Given the description of an element on the screen output the (x, y) to click on. 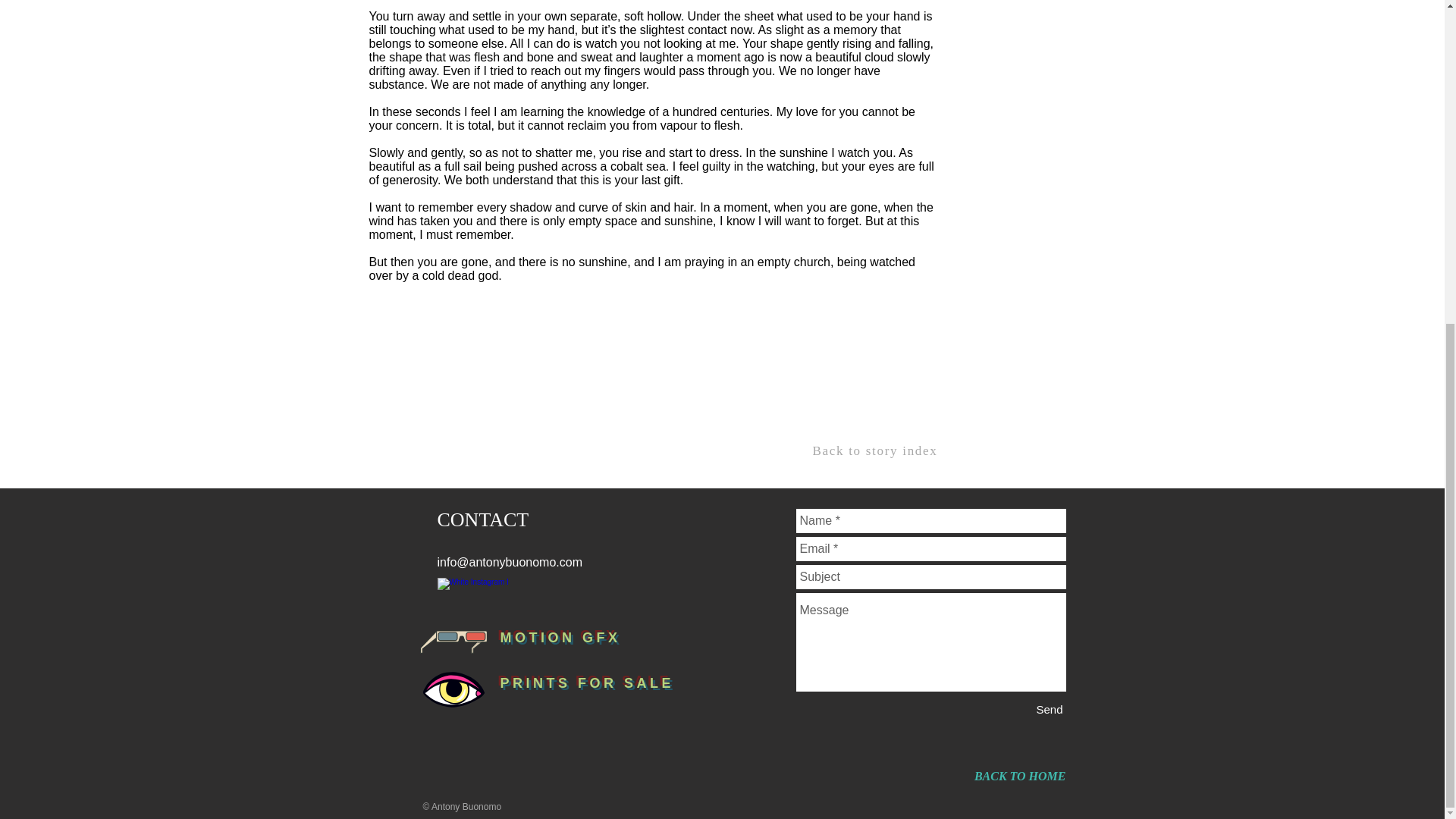
Send (1048, 709)
PRINTS FOR SALE (587, 683)
MOTION GFX (560, 637)
BACK TO HOME (1019, 775)
Back to story index (874, 450)
